Given the description of an element on the screen output the (x, y) to click on. 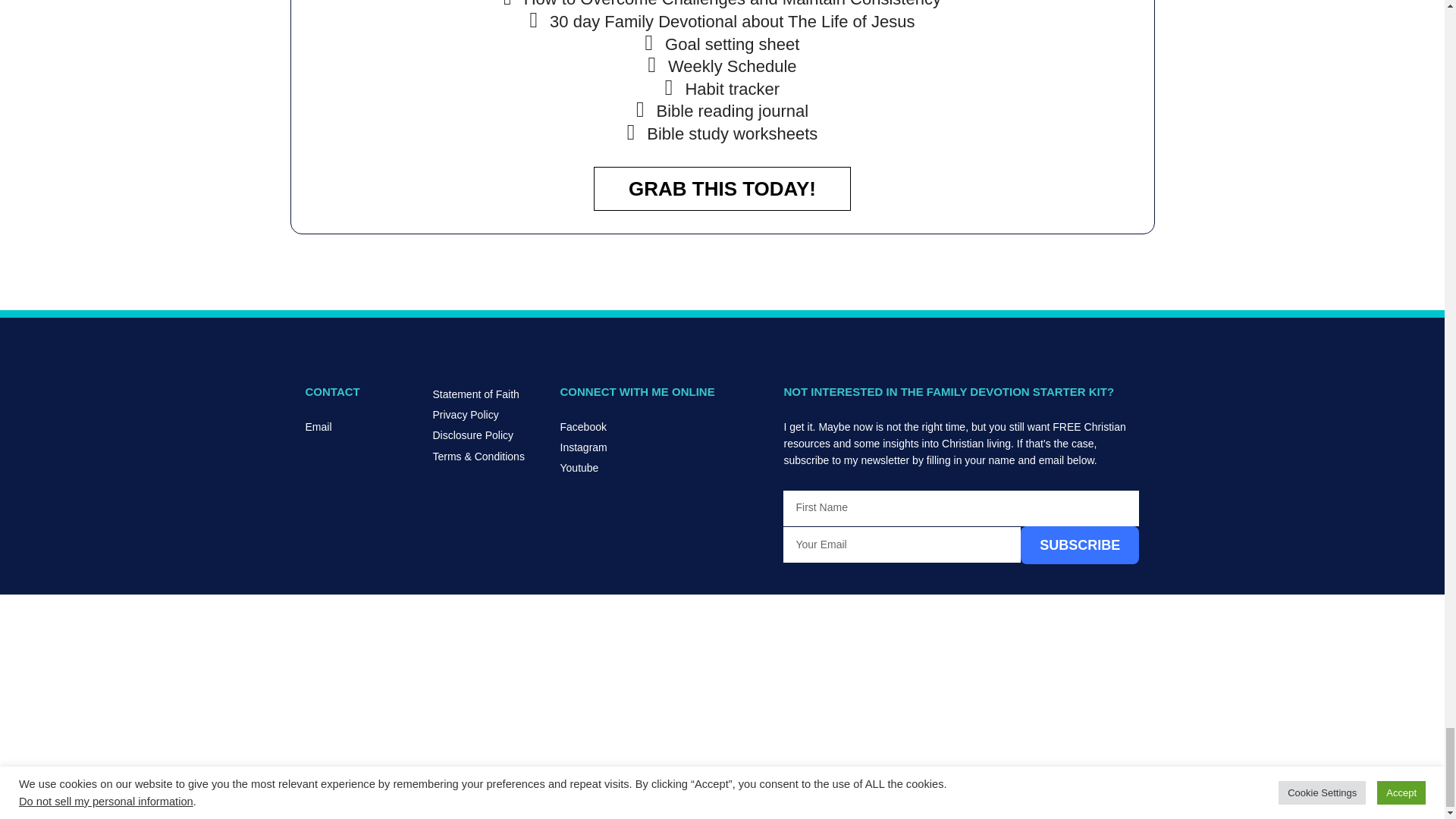
Disclosure Policy (488, 434)
Email (360, 426)
GRAB THIS TODAY! (722, 188)
SUBSCRIBE (1079, 545)
Statement of Faith (488, 393)
Instagram (663, 446)
Youtube (663, 467)
Privacy Policy (488, 414)
Facebook (663, 426)
